Given the description of an element on the screen output the (x, y) to click on. 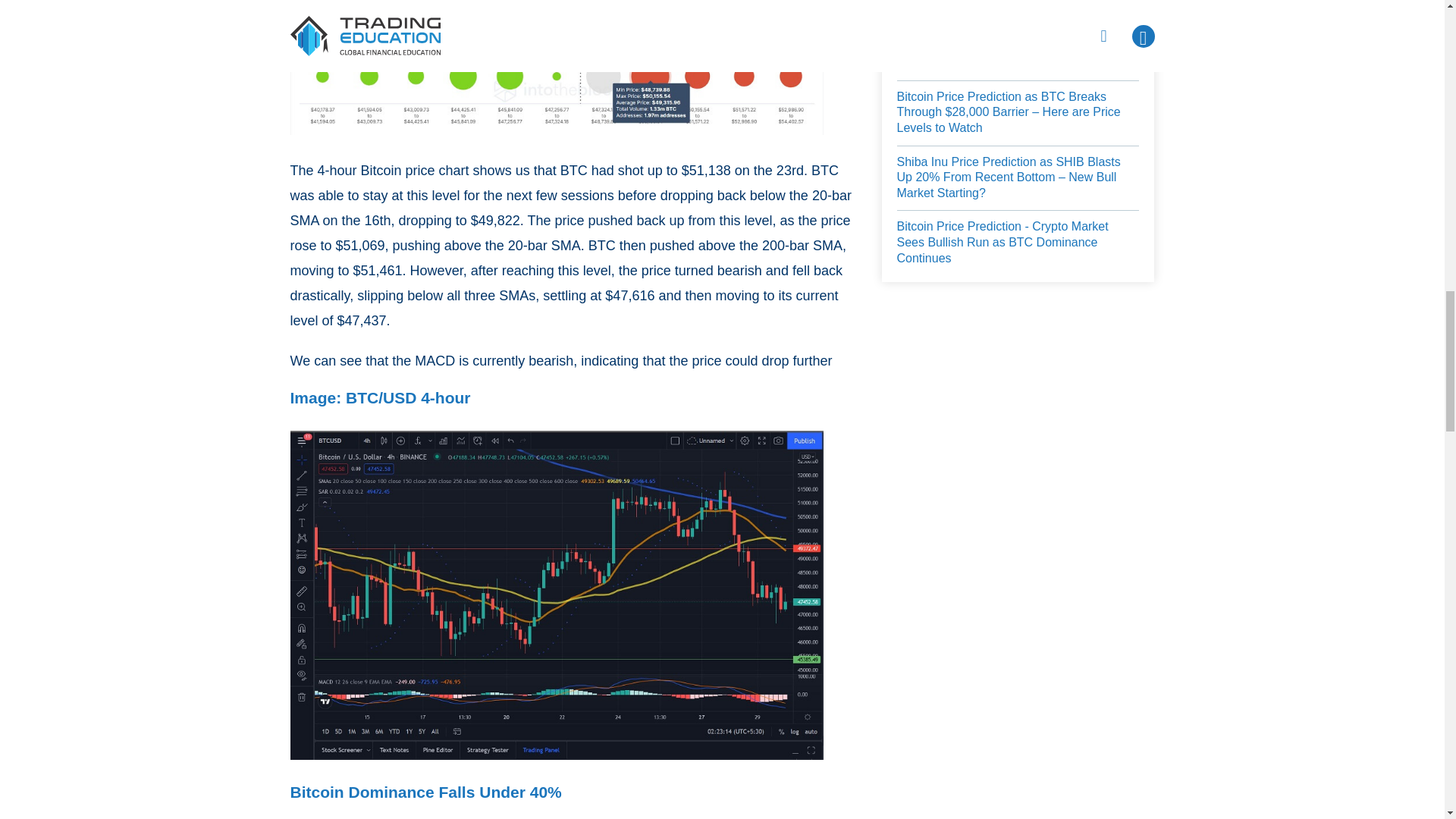
5 Altcoins With 10x Potential (972, 63)
Top 5 Altcoins Apart from Ethereum to Bet on This Year (1017, 20)
